Given the description of an element on the screen output the (x, y) to click on. 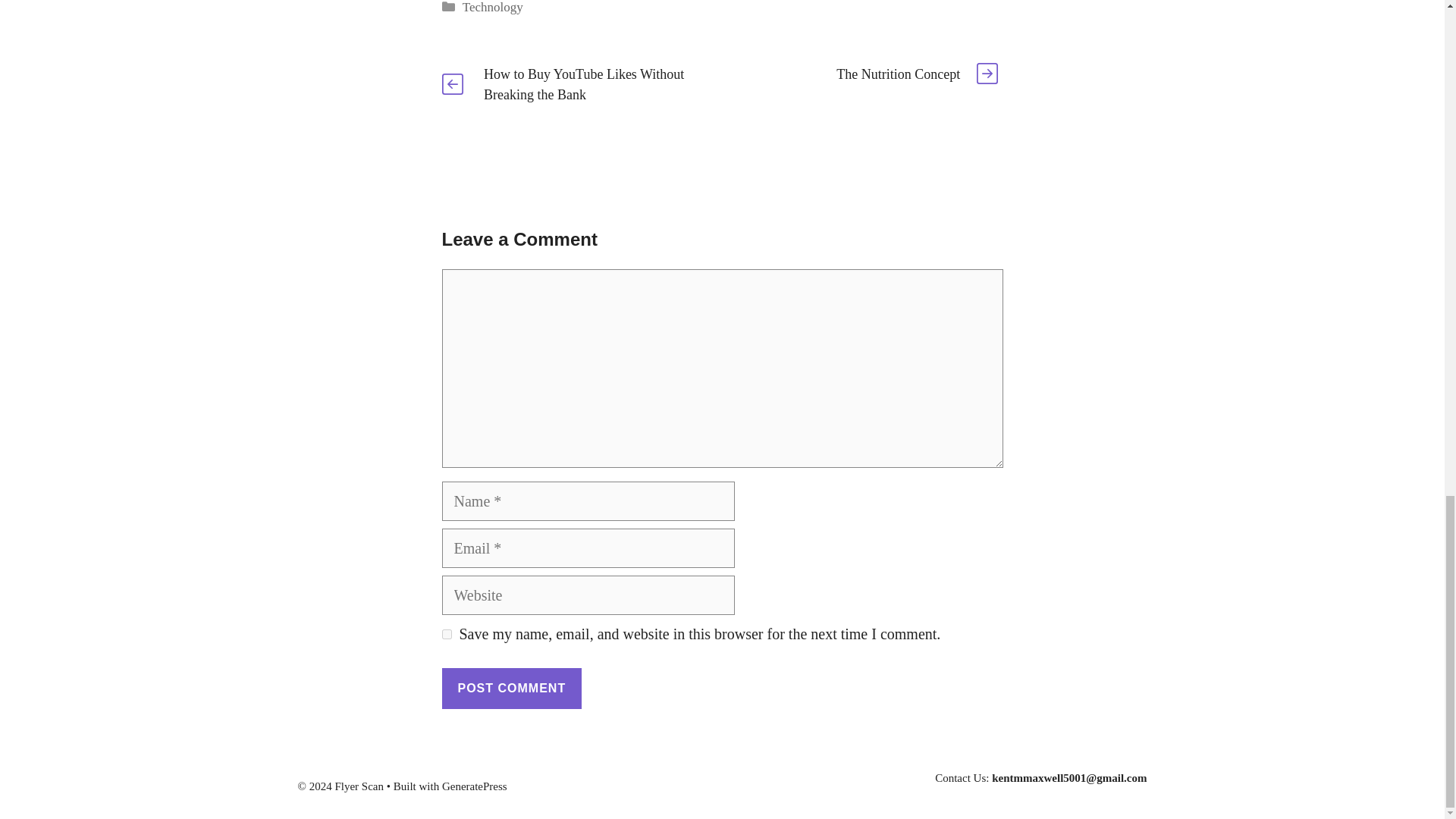
yes (446, 634)
Post Comment (510, 688)
The Nutrition Concept (897, 73)
GeneratePress (474, 786)
Post Comment (510, 688)
Technology (492, 7)
How to Buy YouTube Likes Without Breaking the Bank (583, 84)
